Given the description of an element on the screen output the (x, y) to click on. 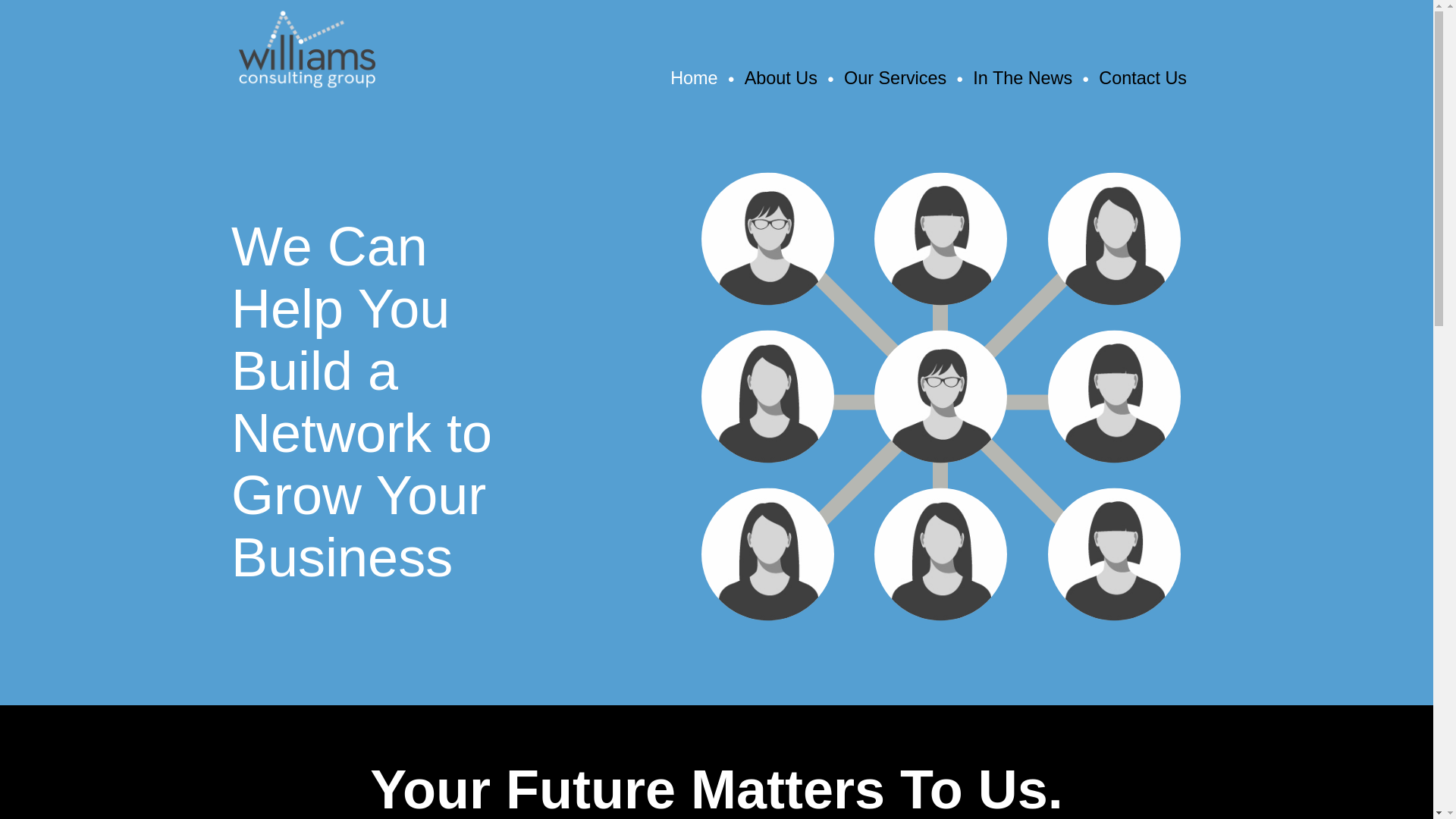
Our Services (895, 77)
Home (693, 77)
In The News (1021, 77)
Contact Us (1142, 77)
About Us (780, 77)
